Given the description of an element on the screen output the (x, y) to click on. 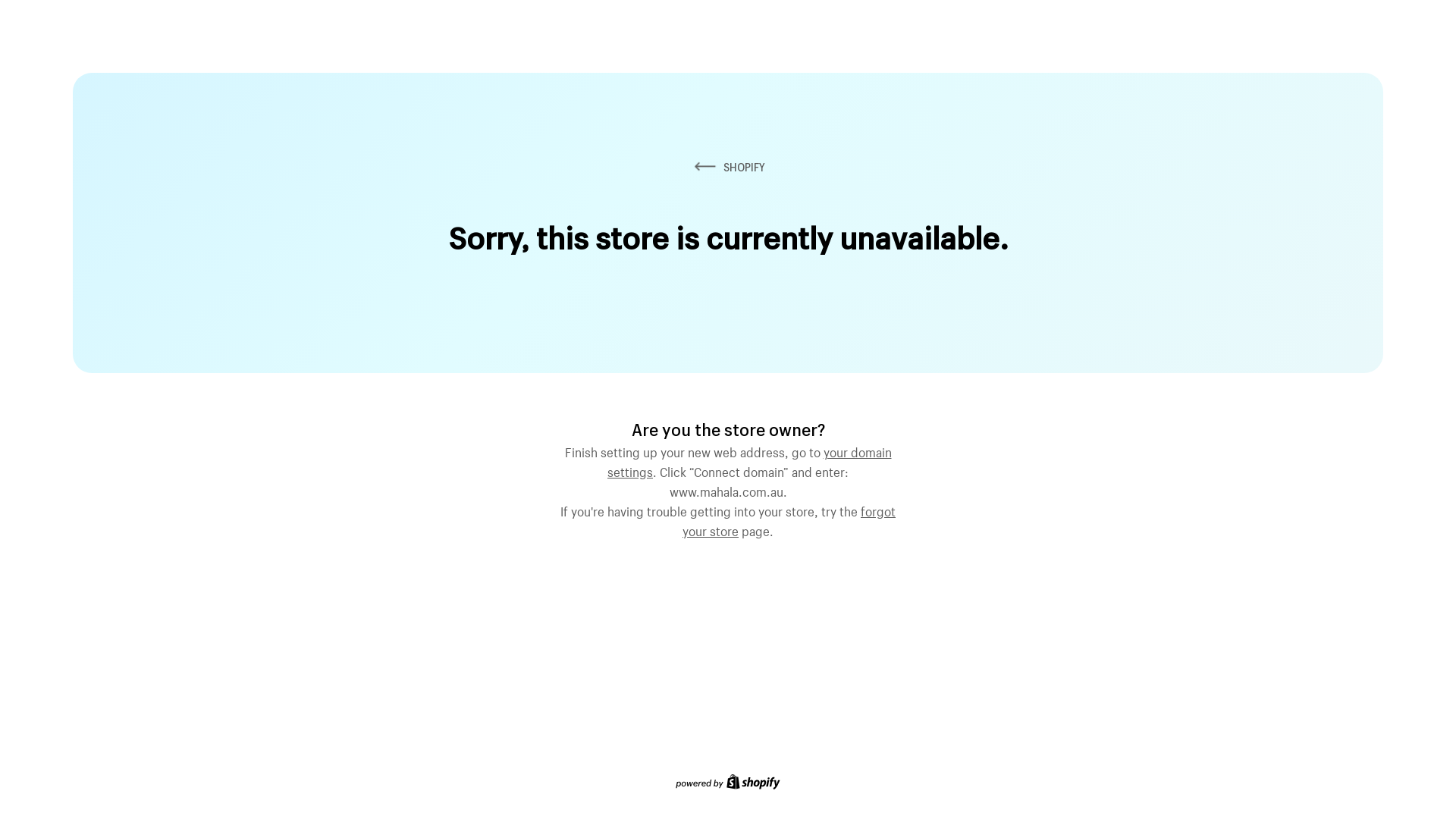
forgot your store Element type: text (788, 519)
your domain settings Element type: text (749, 460)
SHOPIFY Element type: text (727, 167)
